Given the description of an element on the screen output the (x, y) to click on. 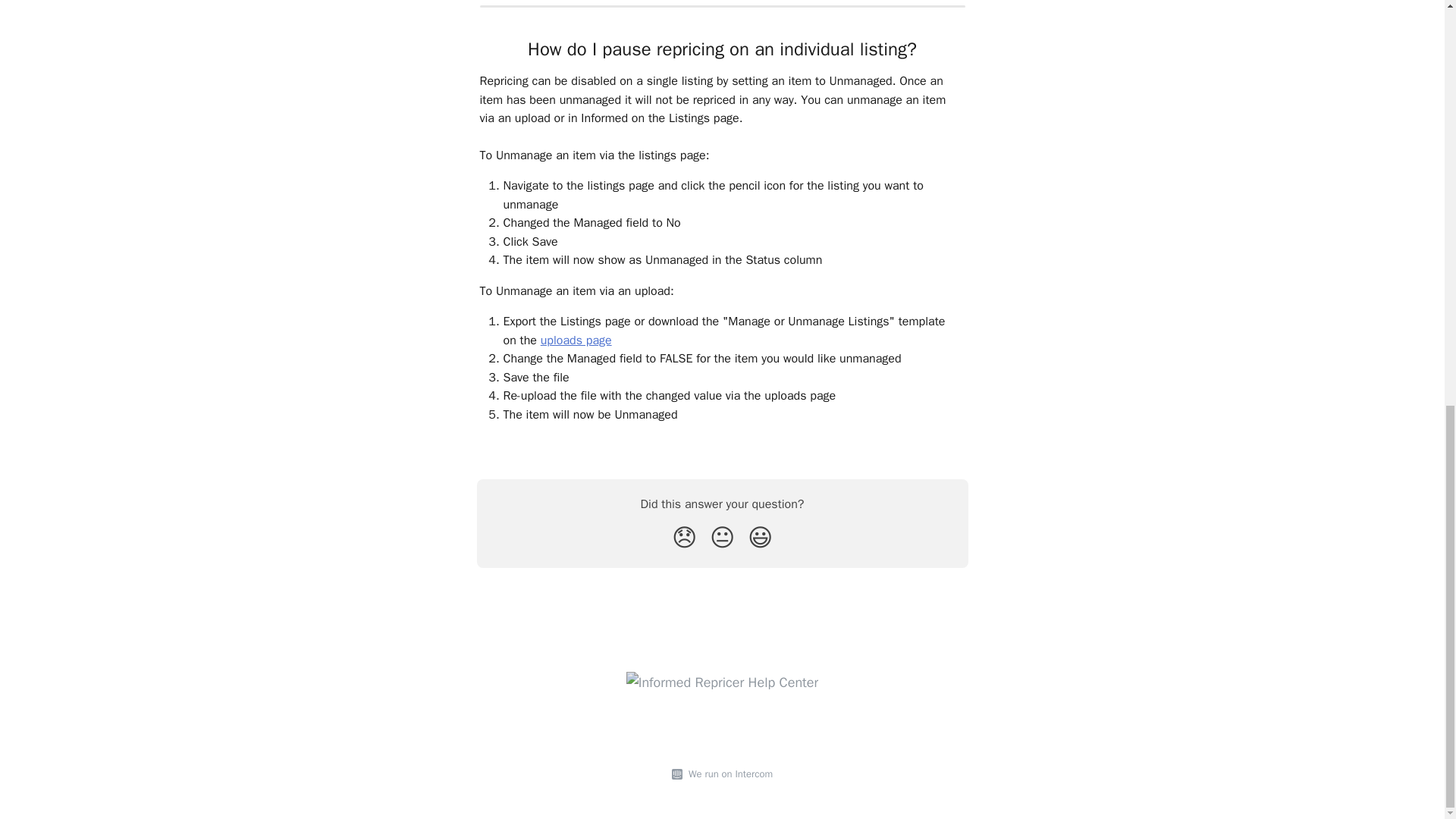
uploads page (575, 340)
We run on Intercom (727, 774)
